Given the description of an element on the screen output the (x, y) to click on. 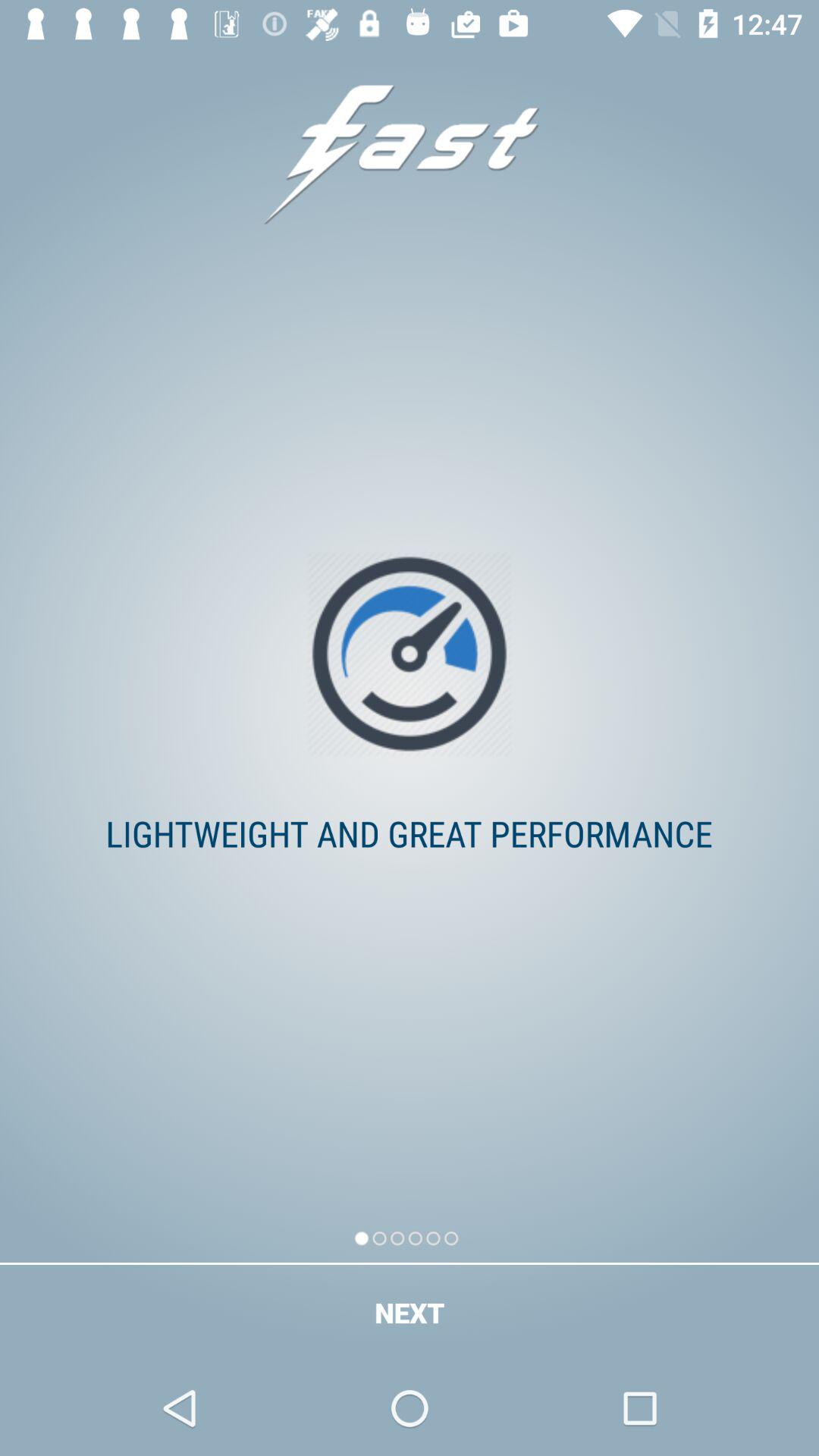
scroll until the next icon (409, 1312)
